Given the description of an element on the screen output the (x, y) to click on. 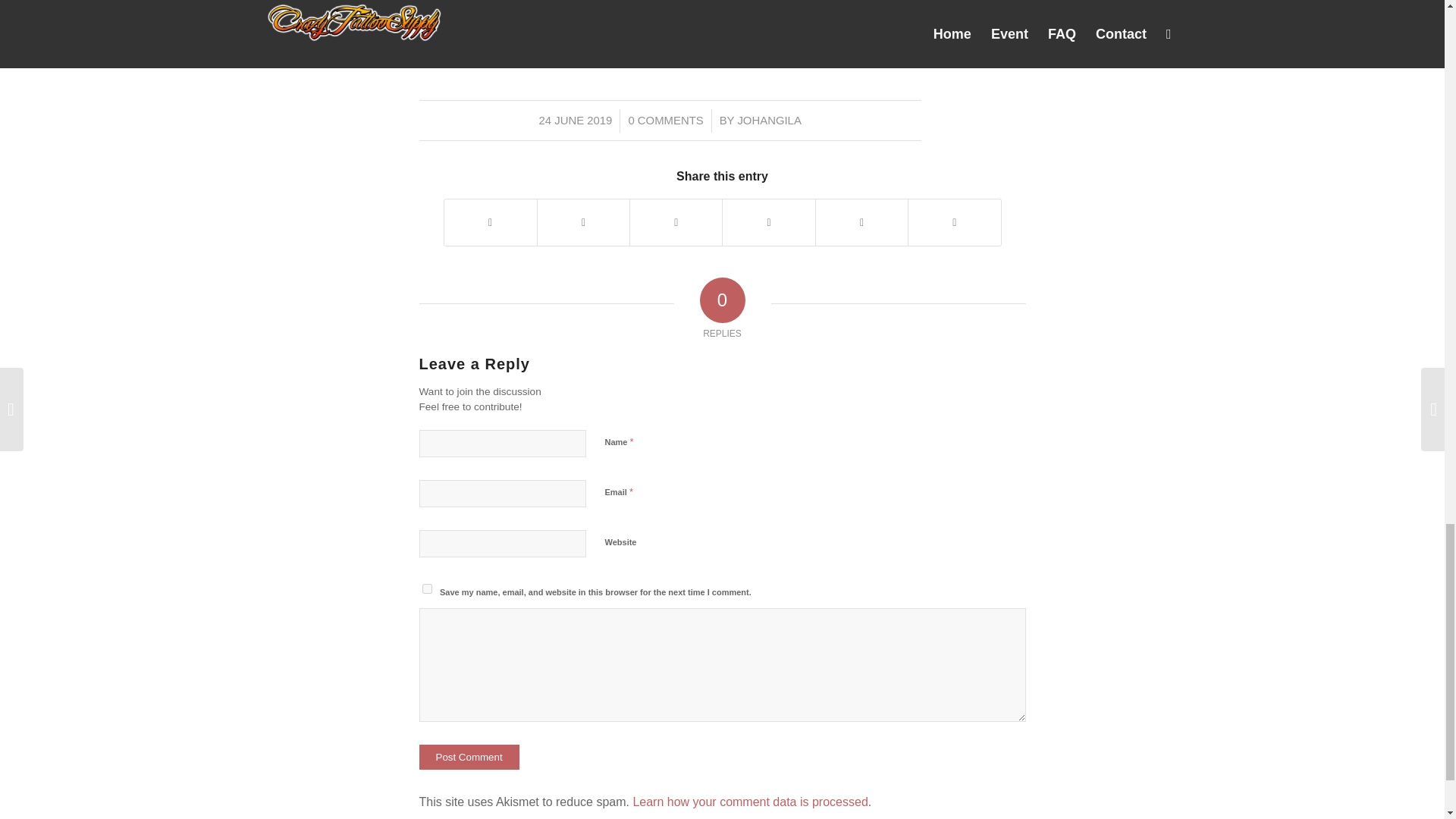
0 COMMENTS (665, 120)
JOHANGILA (768, 120)
Post Comment (468, 756)
Learn how your comment data is processed (749, 801)
Posts by johangila (768, 120)
yes (426, 588)
Post Comment (468, 756)
